Given the description of an element on the screen output the (x, y) to click on. 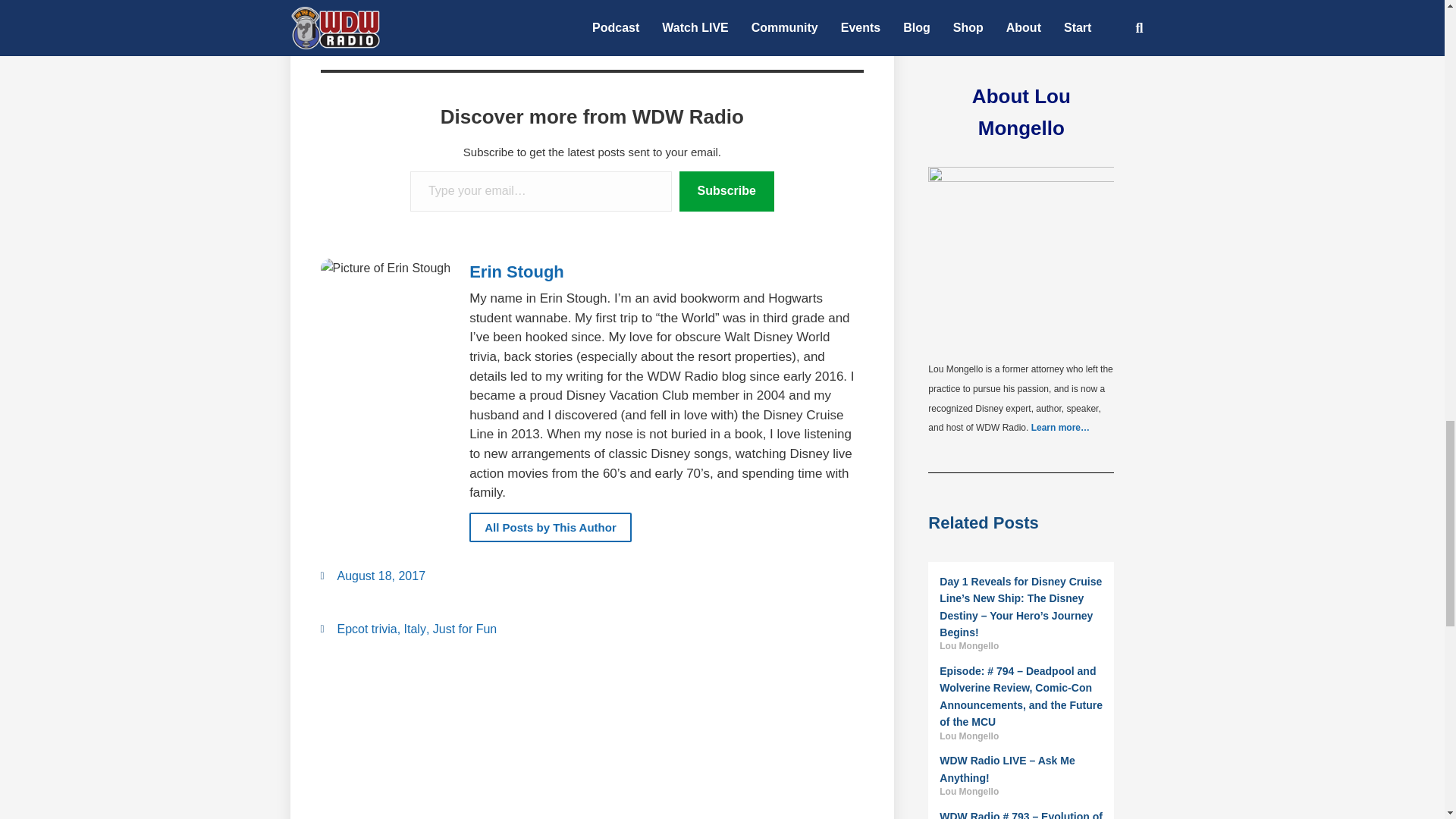
Please fill in this field. (540, 191)
